Given the description of an element on the screen output the (x, y) to click on. 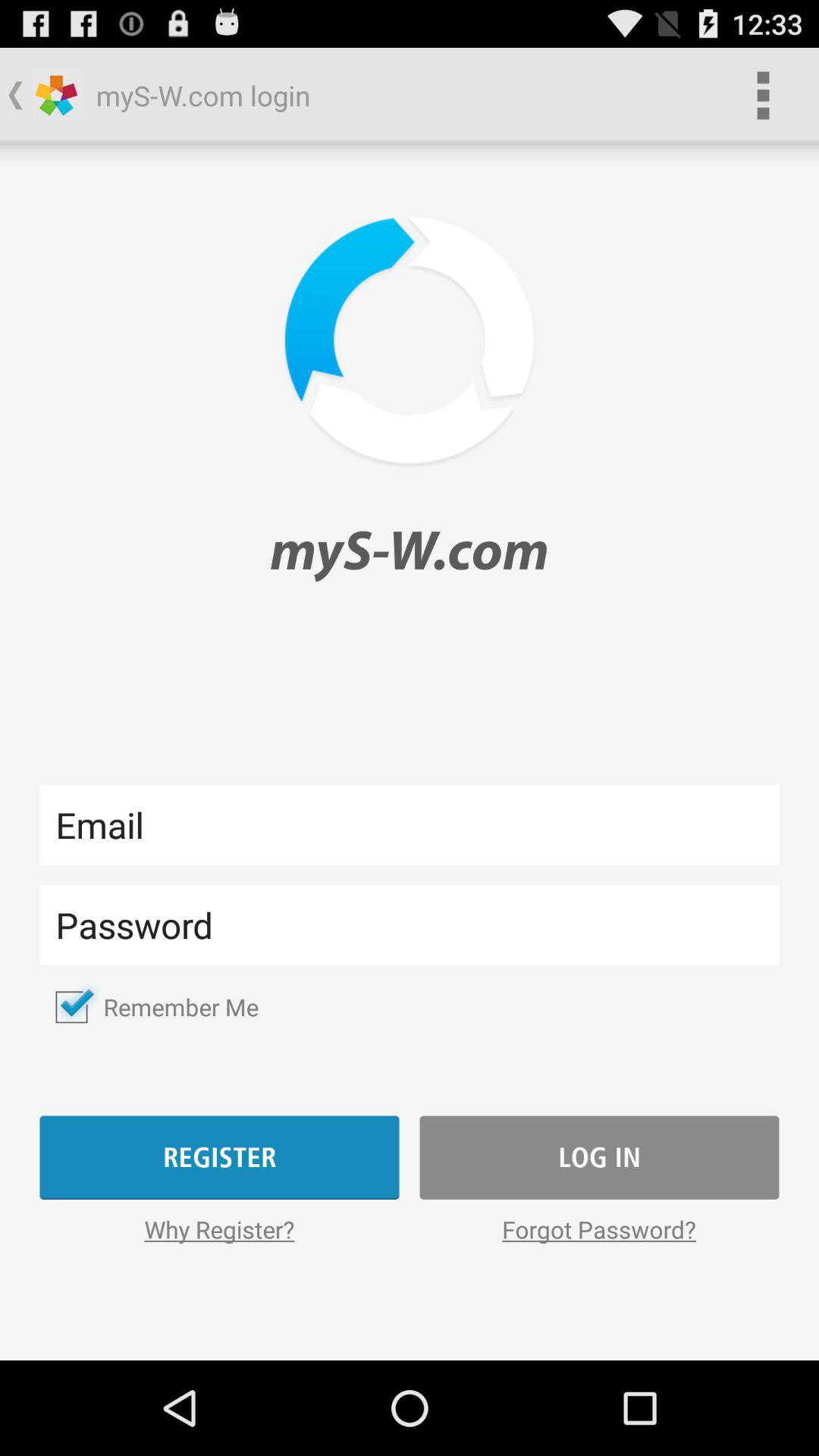
lets you enter text into the field (409, 924)
